Given the description of an element on the screen output the (x, y) to click on. 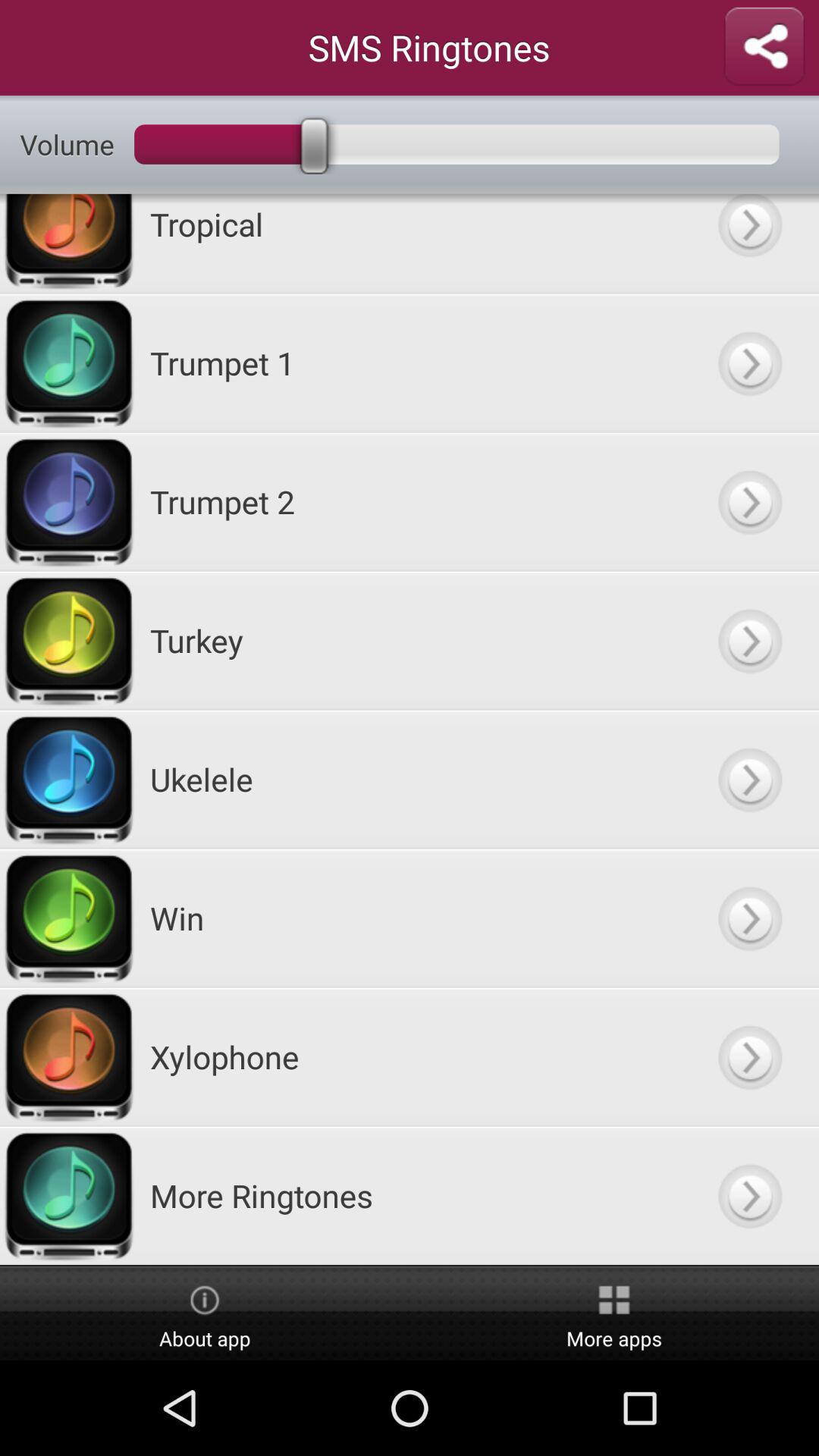
go to tropical music (749, 243)
